Given the description of an element on the screen output the (x, y) to click on. 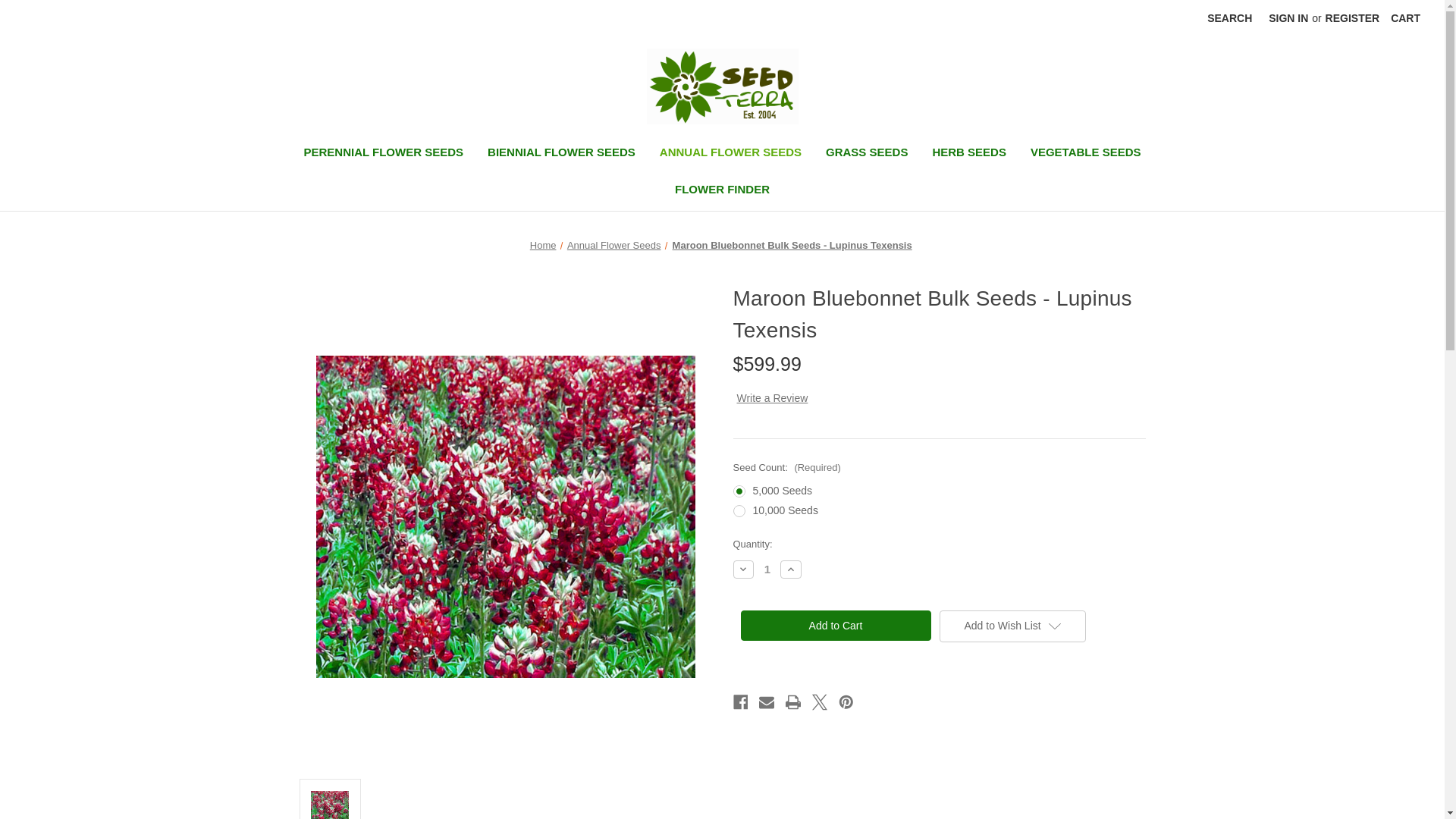
Add to Cart (834, 625)
SEARCH (1229, 18)
Write a Review (772, 398)
SIGN IN (1288, 18)
ANNUAL FLOWER SEEDS (730, 153)
FLOWER FINDER (721, 190)
Seed Terra (721, 86)
CART (1404, 18)
PERENNIAL FLOWER SEEDS (383, 153)
VEGETABLE SEEDS (1085, 153)
Annual Flower Seeds (614, 244)
Add to Cart (834, 625)
HERB SEEDS (968, 153)
